Given the description of an element on the screen output the (x, y) to click on. 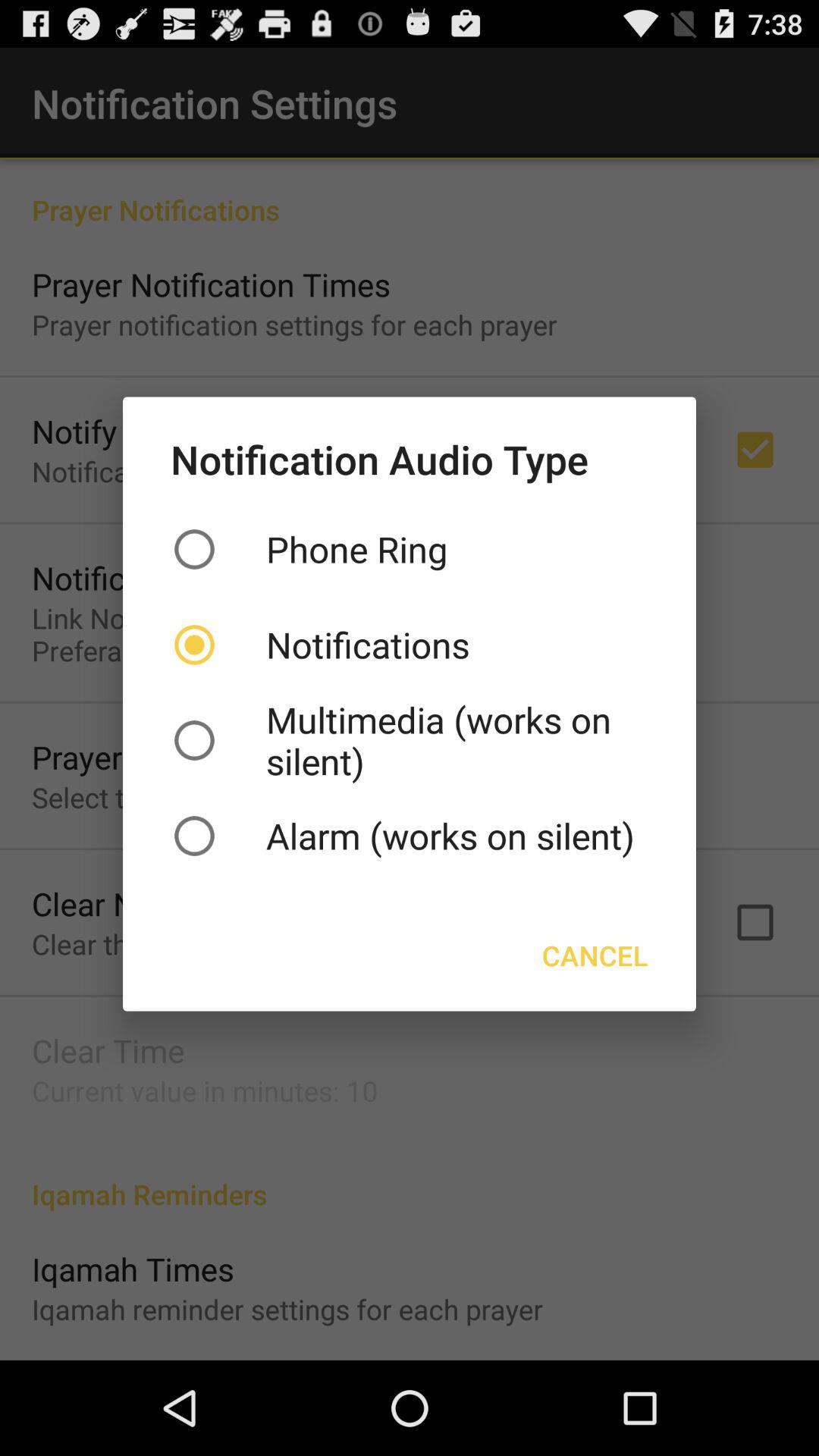
flip to cancel button (595, 955)
